Given the description of an element on the screen output the (x, y) to click on. 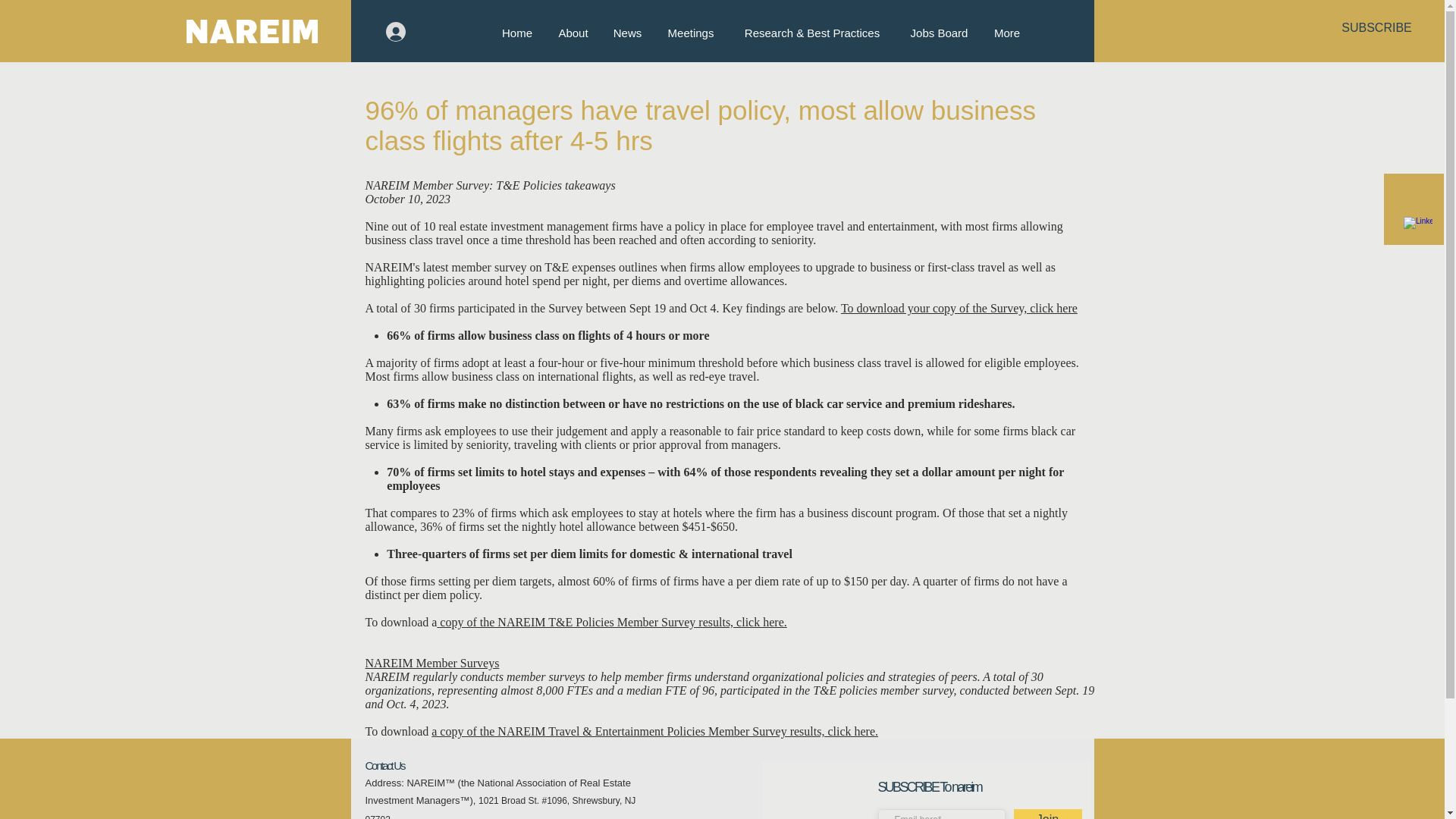
Meetings (689, 32)
News (626, 32)
Contact Us (384, 765)
To download your copy of the Survey, click here (959, 308)
Log In (417, 31)
About (573, 32)
Jobs Board (938, 32)
Home (515, 32)
